Given the description of an element on the screen output the (x, y) to click on. 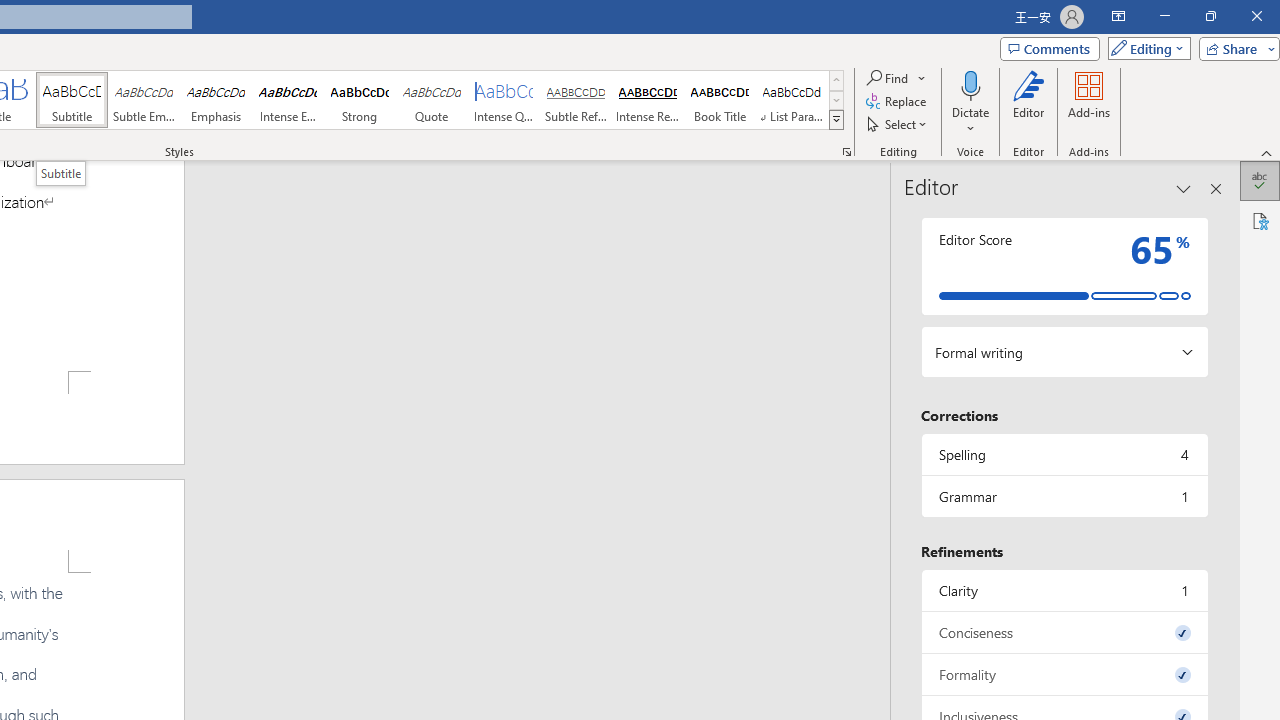
Restore Down (1210, 16)
Editor Score 65% (1064, 266)
Dictate (970, 102)
Find (896, 78)
Class: NetUIImage (836, 119)
Editor (1260, 180)
Accessibility (1260, 220)
Share (1235, 48)
Collapse the Ribbon (1267, 152)
Task Pane Options (1183, 188)
More Options (970, 121)
Row up (836, 79)
Intense Quote (504, 100)
Editor (1028, 102)
